Given the description of an element on the screen output the (x, y) to click on. 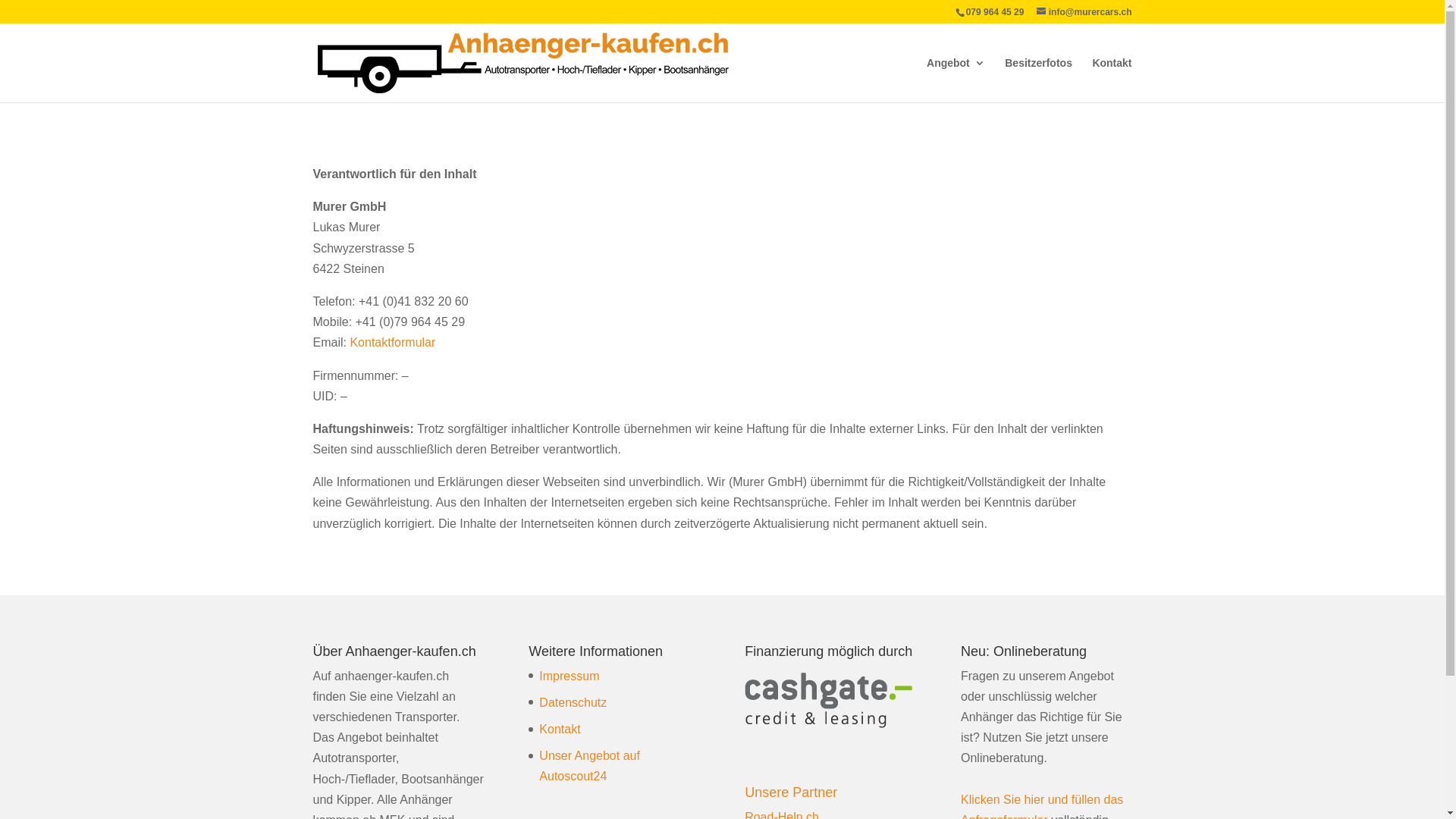
Datenschutz Element type: text (572, 702)
info@murercars.ch Element type: text (1084, 11)
Unsere Partner Element type: text (790, 792)
Kontaktformular Element type: text (392, 341)
Impressum Element type: text (569, 675)
Kontakt Element type: text (559, 728)
Besitzerfotos Element type: text (1038, 79)
Kontakt Element type: text (1111, 79)
Angebot Element type: text (955, 79)
Unser Angebot auf Autoscout24 Element type: text (589, 765)
